Given the description of an element on the screen output the (x, y) to click on. 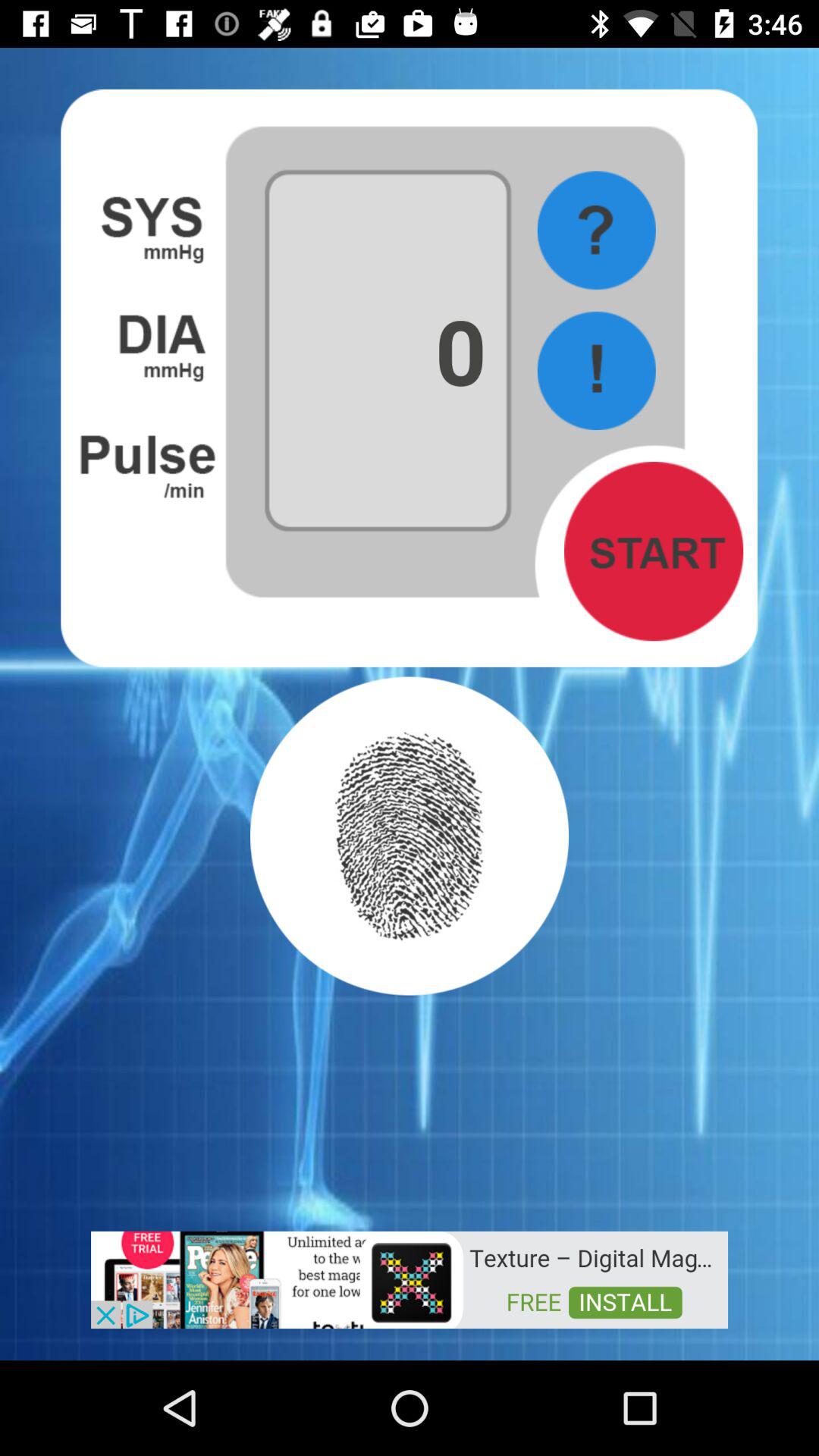
click to start button (653, 550)
